Given the description of an element on the screen output the (x, y) to click on. 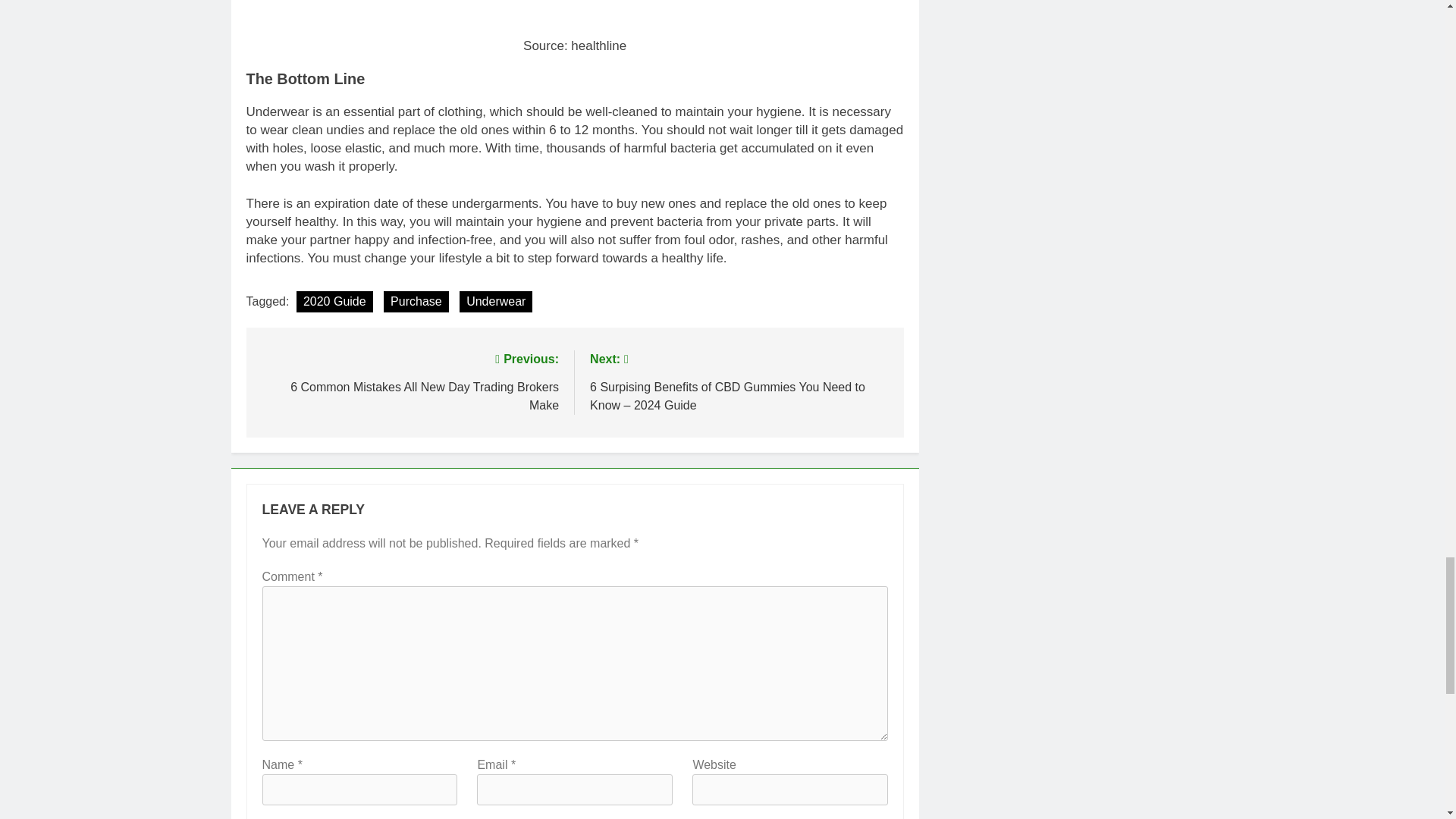
Purchase (416, 301)
2020 Guide (334, 301)
Underwear (409, 380)
